Given the description of an element on the screen output the (x, y) to click on. 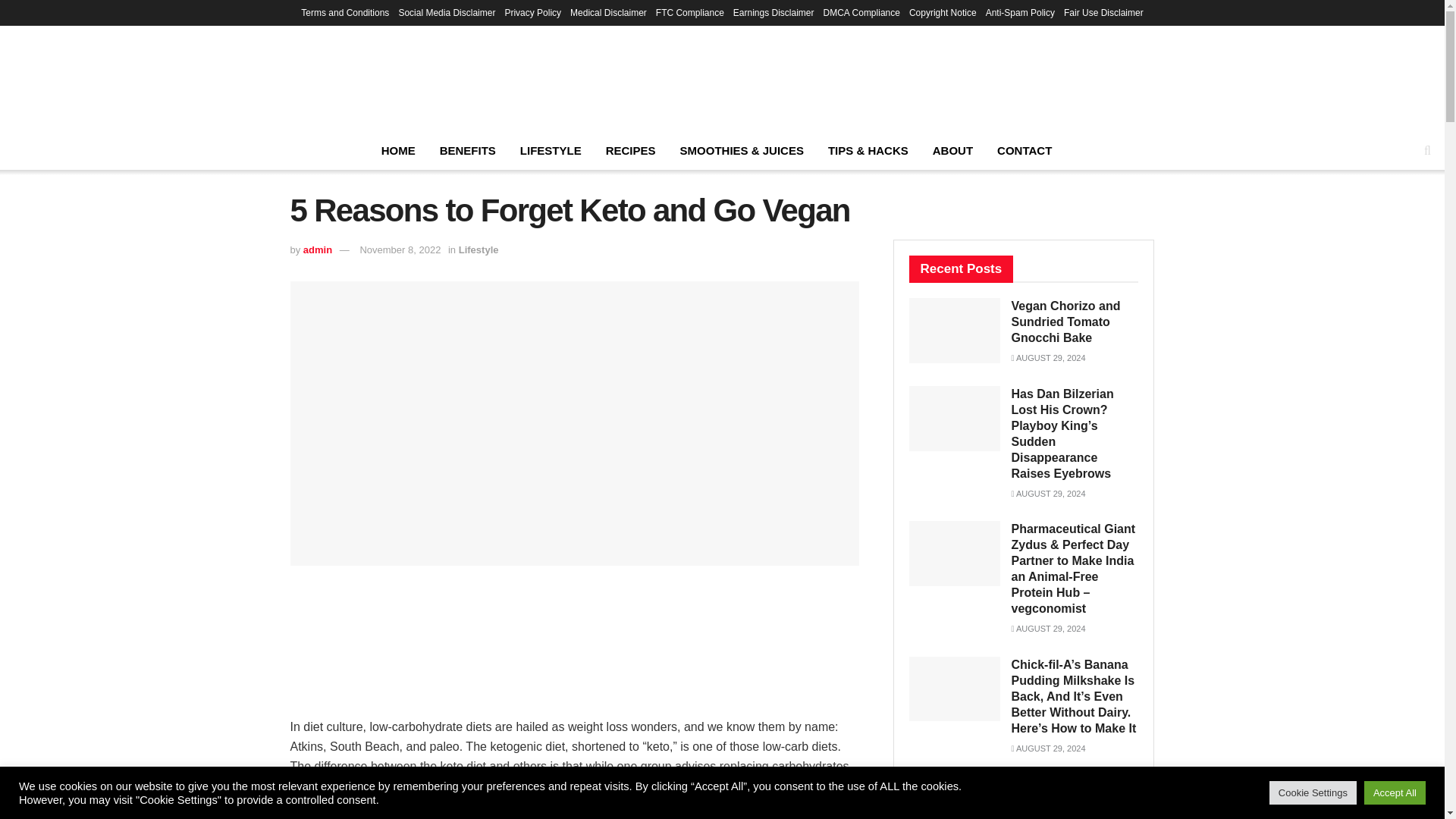
DMCA Compliance (861, 12)
BENEFITS (468, 150)
Fair Use Disclaimer (1103, 12)
Copyright Notice (942, 12)
Social Media Disclaimer (446, 12)
Medical Disclaimer (608, 12)
Anti-Spam Policy (1019, 12)
Earnings Disclaimer (773, 12)
HOME (398, 150)
FTC Compliance (689, 12)
